Given the description of an element on the screen output the (x, y) to click on. 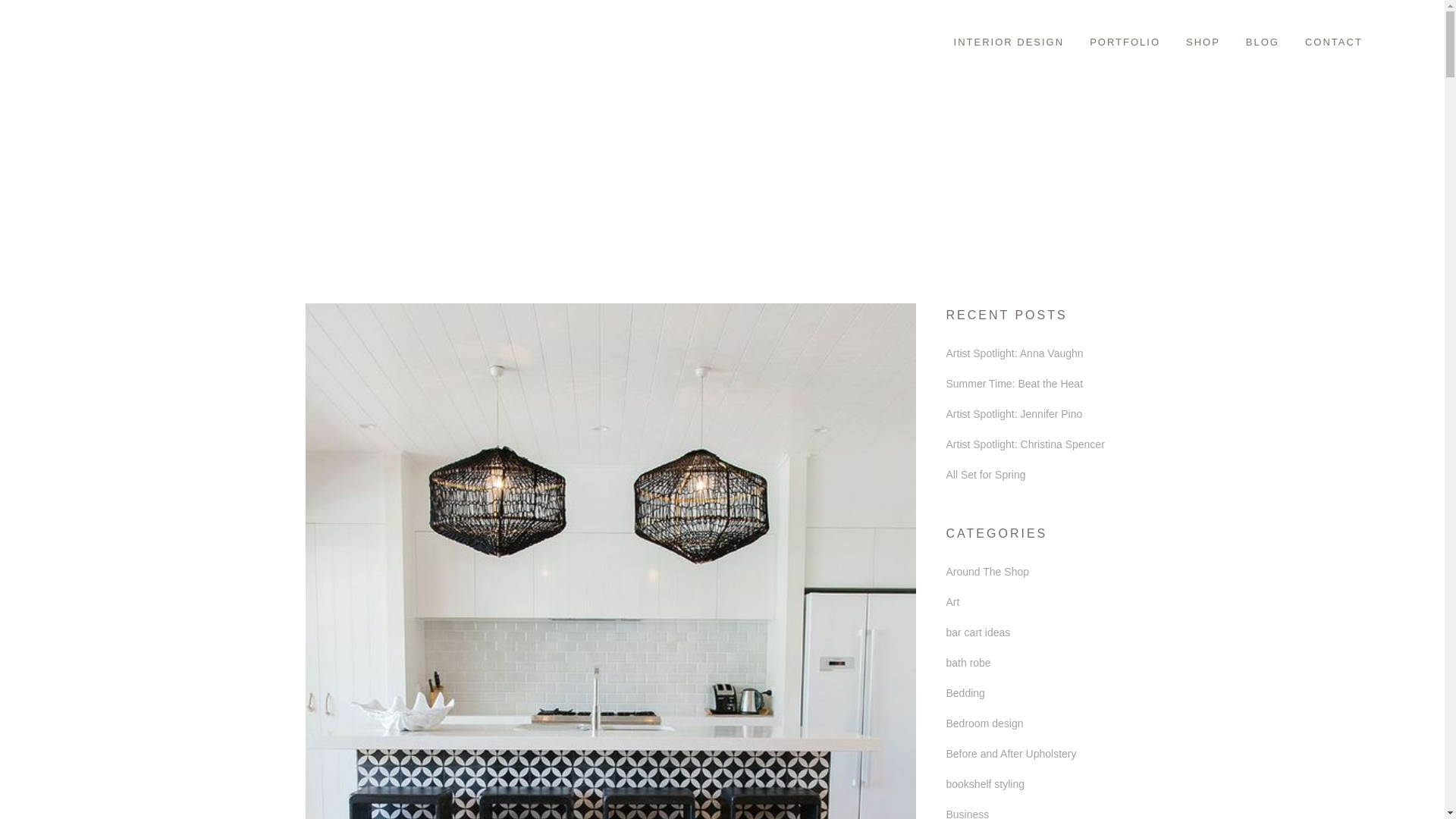
Around The Shop (987, 571)
All Set for Spring (986, 474)
Artist Spotlight: Christina Spencer (1025, 444)
BLOG (1262, 41)
CONTACT (1333, 41)
SHOP (1203, 41)
INTERIOR DESIGN (1008, 41)
Summer Time: Beat the Heat (1014, 383)
Artist Spotlight: Jennifer Pino (1014, 413)
Artist Spotlight: Anna Vaughn (1014, 353)
